Given the description of an element on the screen output the (x, y) to click on. 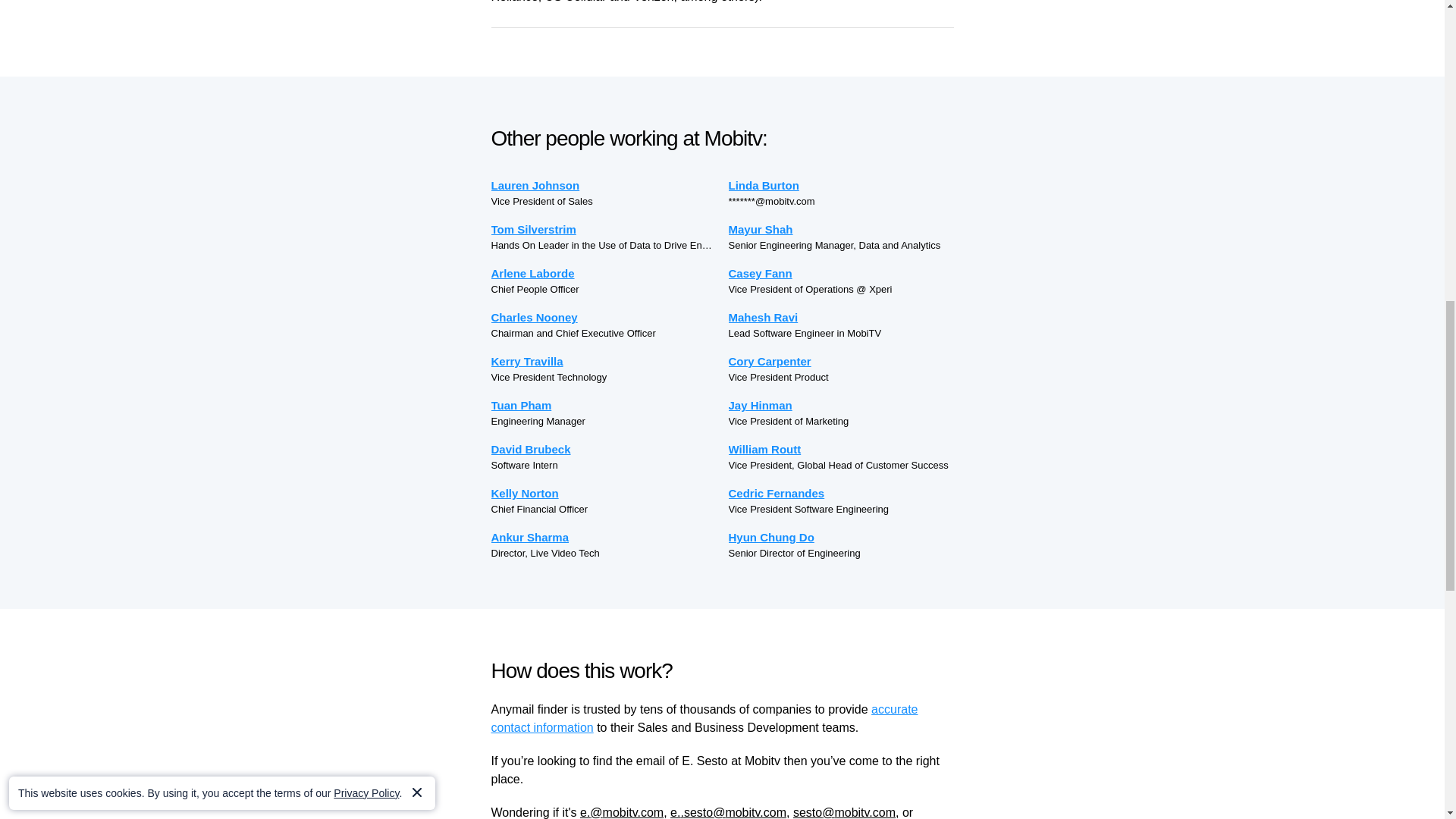
Kerry Travilla (604, 361)
Tom Silverstrim (604, 229)
Casey Fann (840, 272)
Kelly Norton (604, 493)
Jay Hinman (840, 405)
Cory Carpenter (840, 361)
David Brubeck (604, 448)
Mahesh Ravi (840, 316)
Lauren Johnson (604, 185)
William Routt (840, 448)
